Given the description of an element on the screen output the (x, y) to click on. 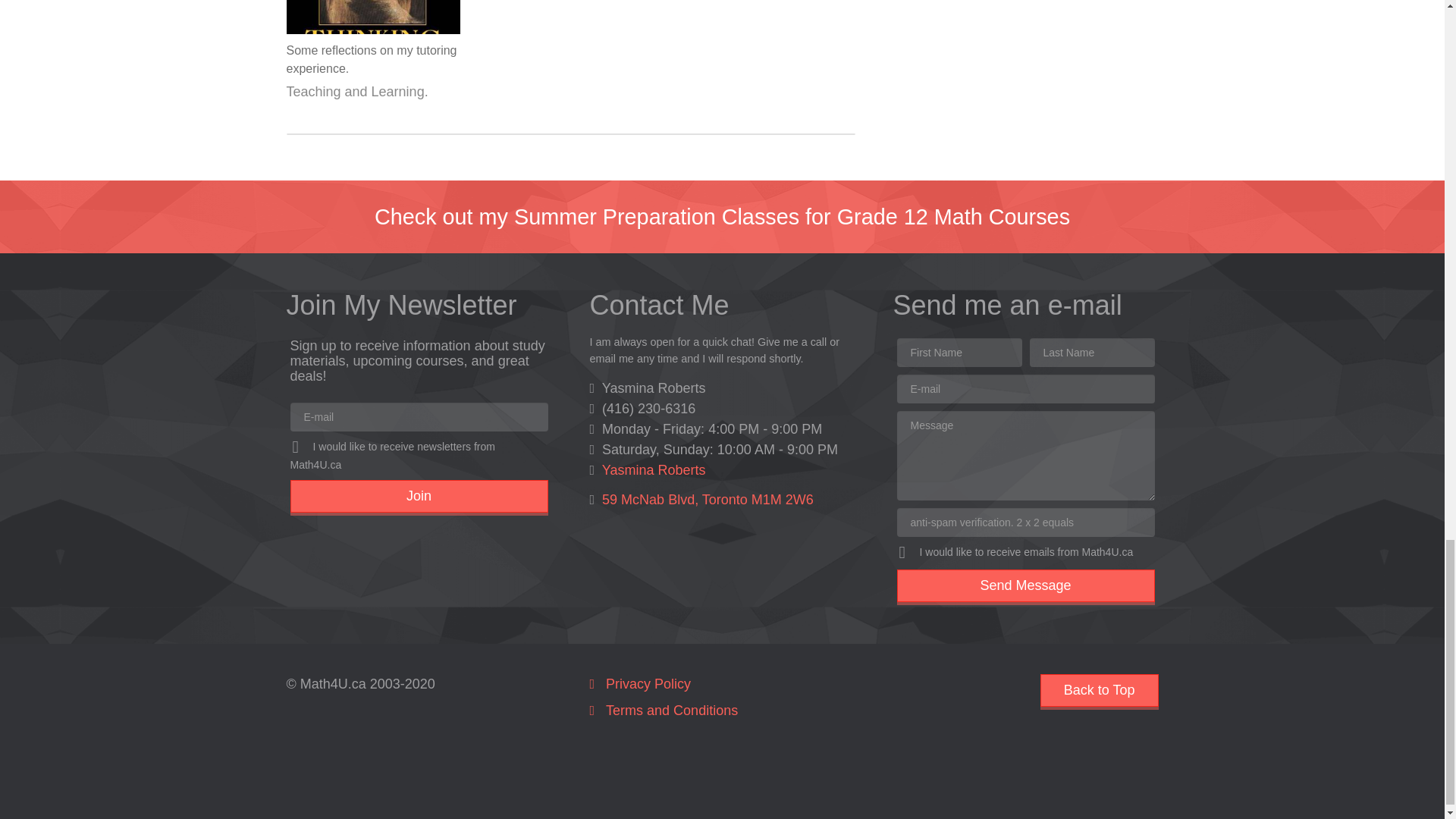
Join (418, 495)
Send Message (1025, 585)
